Given the description of an element on the screen output the (x, y) to click on. 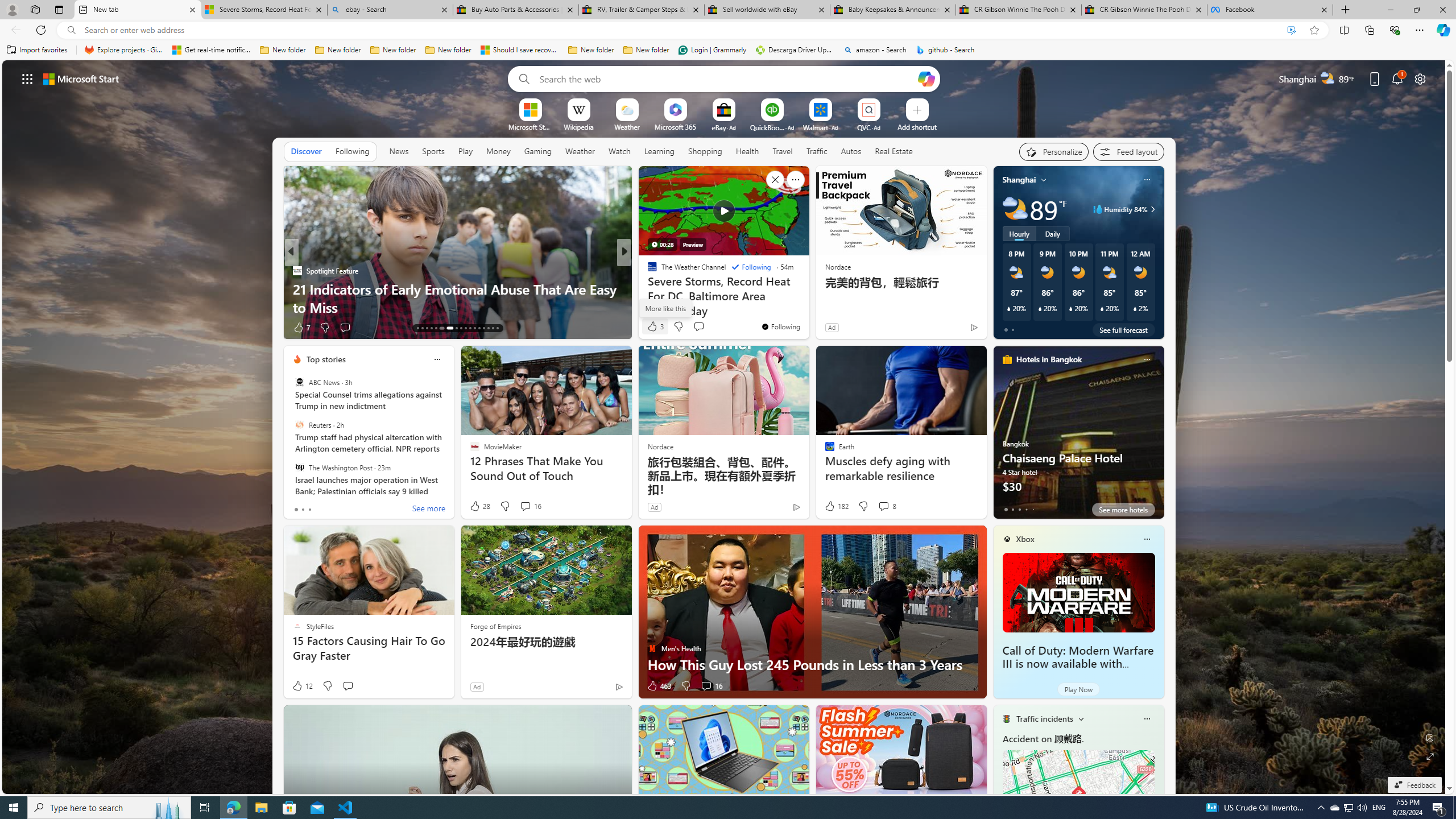
See full forecast (1123, 329)
353 Like (654, 327)
New folder (646, 49)
Should I save recovered Word documents? - Microsoft Support (519, 49)
Xbox (1025, 538)
AutomationID: tab-15 (426, 328)
AutomationID: tab-19 (448, 328)
See more hotels (1123, 509)
hotels-header-icon (1006, 358)
AutomationID: tab-29 (497, 328)
